Given the description of an element on the screen output the (x, y) to click on. 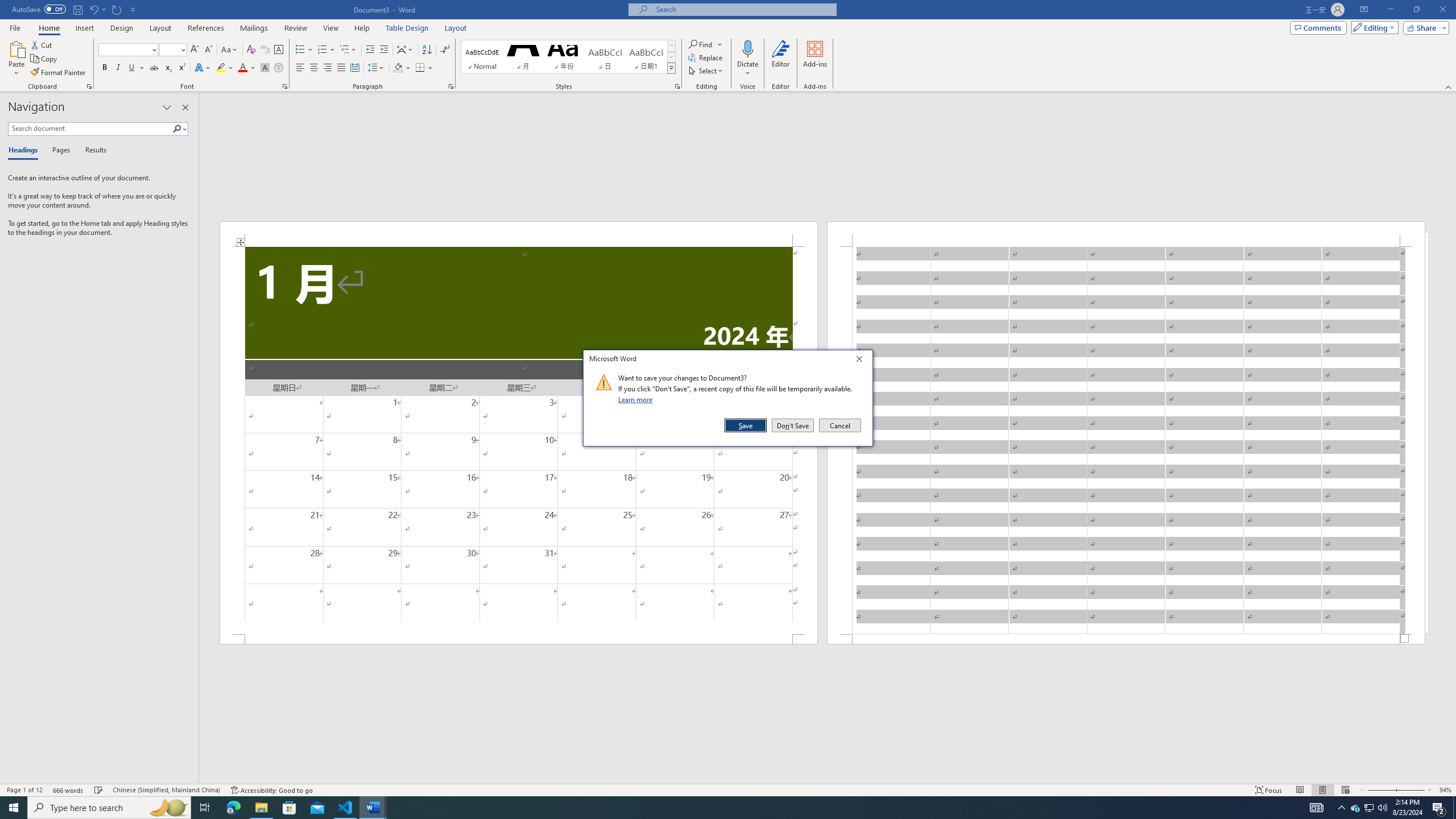
User Promoted Notification Area (1368, 807)
Accessibility Checker Accessibility: Good to go (271, 790)
Replace... (705, 56)
Align Left (300, 67)
AutomationID: 4105 (1316, 807)
Word Count 666 words (68, 790)
